Given the description of an element on the screen output the (x, y) to click on. 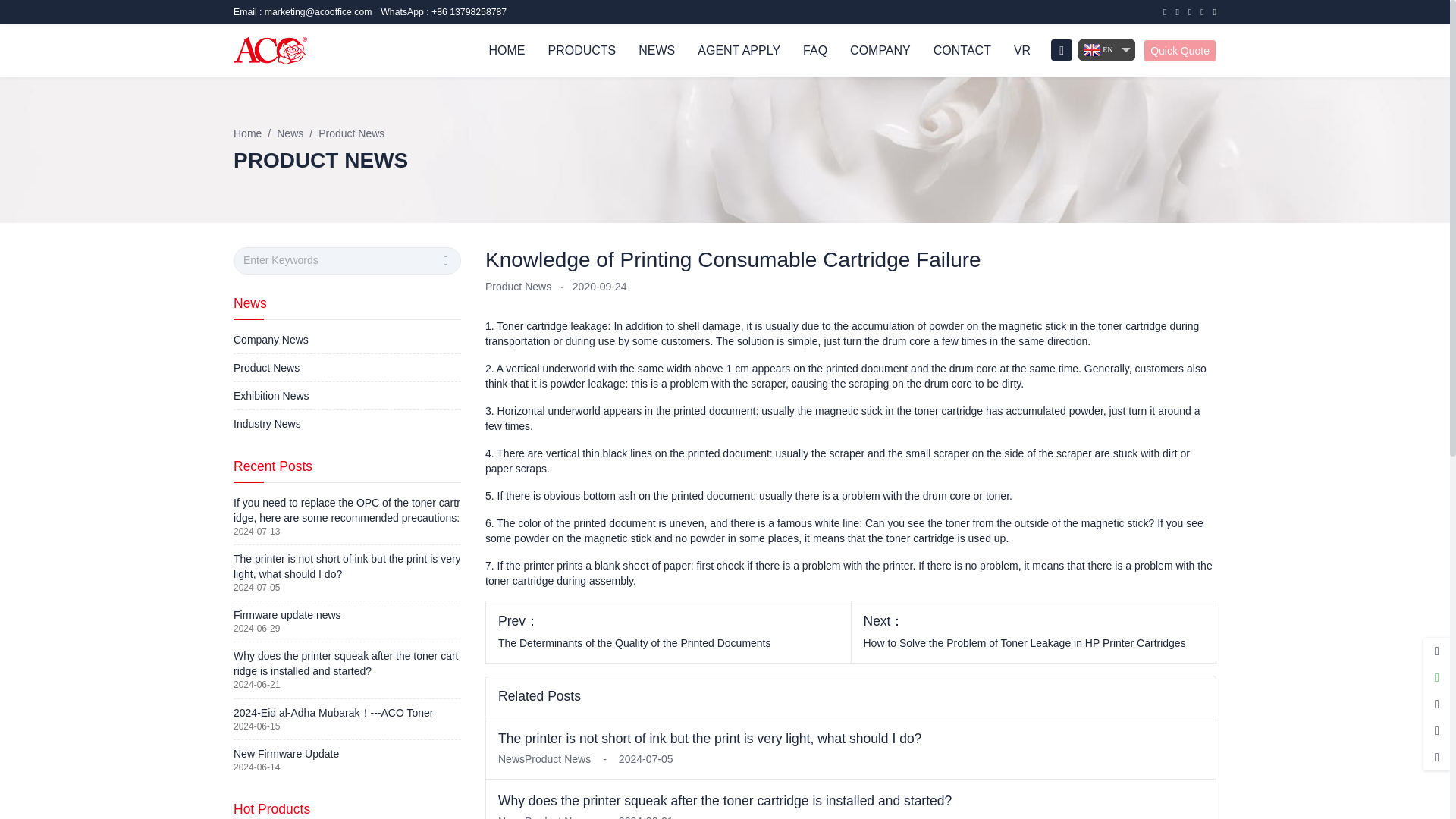
PRODUCTS (581, 50)
HOME (506, 50)
